Given the description of an element on the screen output the (x, y) to click on. 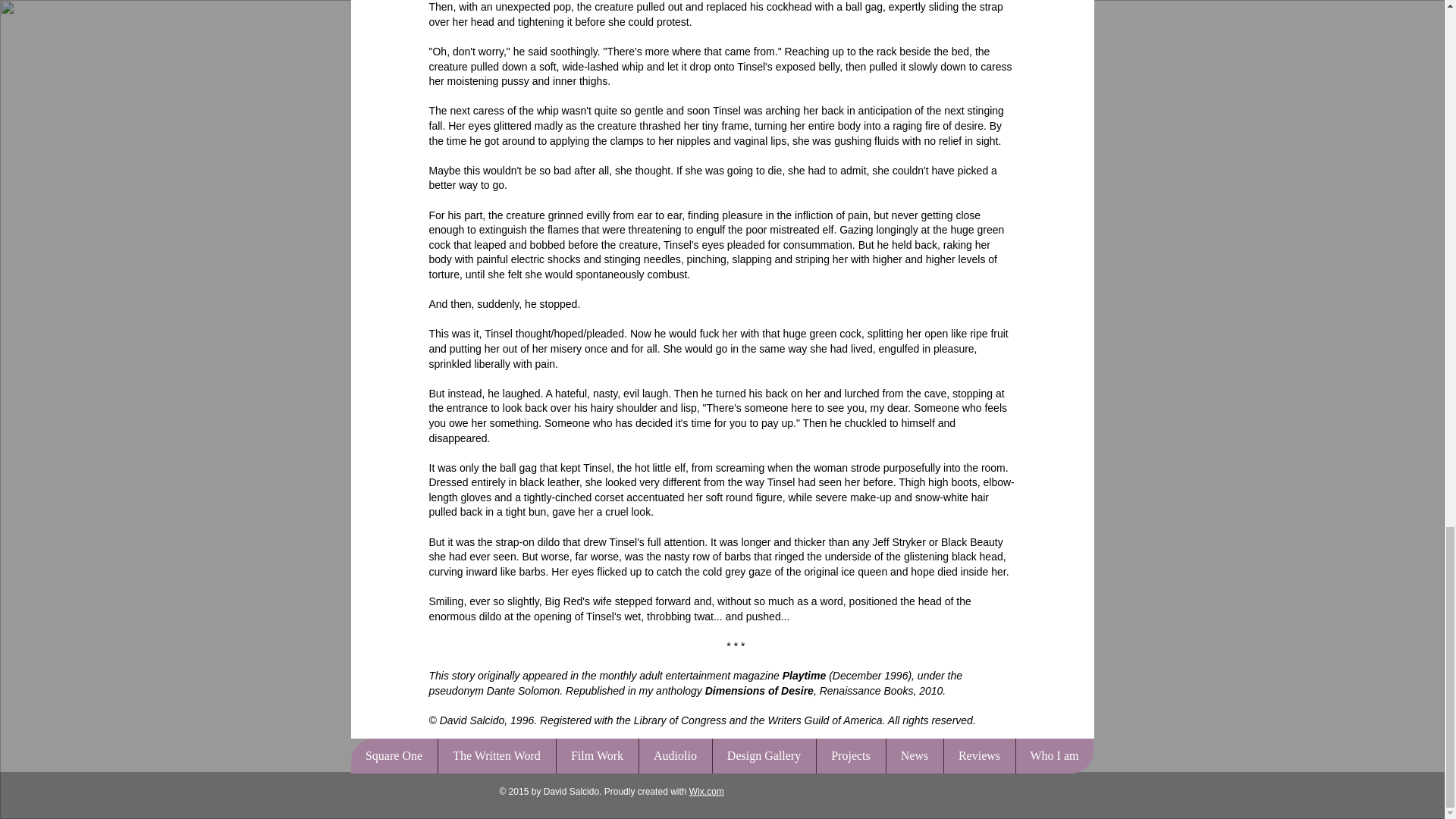
Who I am (1053, 755)
Film Work (595, 755)
Design Gallery (763, 755)
Reviews (978, 755)
Projects (850, 755)
The Written Word (495, 755)
Square One (393, 755)
News (914, 755)
Audiolio (675, 755)
Wix.com (705, 791)
